Given the description of an element on the screen output the (x, y) to click on. 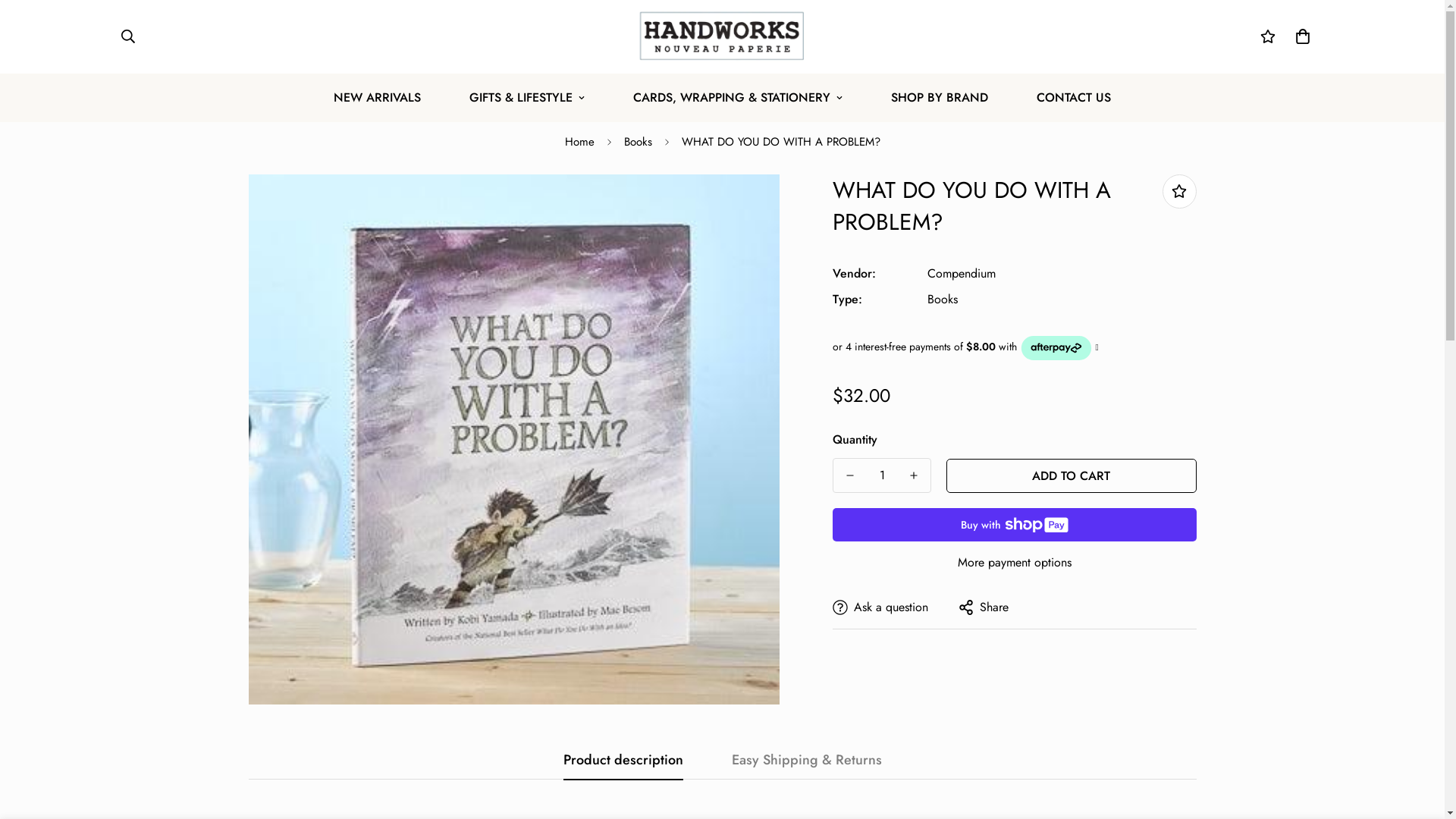
Ask a question Element type: text (880, 606)
ADD TO CART Element type: text (1071, 475)
CARDS, WRAPPING & STATIONERY Element type: text (737, 97)
Handworks Nouveau Paperie Element type: hover (722, 36)
Books Element type: text (941, 298)
Home Element type: text (579, 142)
SHOP BY BRAND Element type: text (939, 97)
Share Element type: text (983, 606)
CONTACT US Element type: text (1073, 97)
Compendium Element type: text (960, 272)
More payment options Element type: text (1014, 562)
Books Element type: text (637, 142)
NEW ARRIVALS Element type: text (377, 97)
GIFTS & LIFESTYLE Element type: text (526, 97)
